Given the description of an element on the screen output the (x, y) to click on. 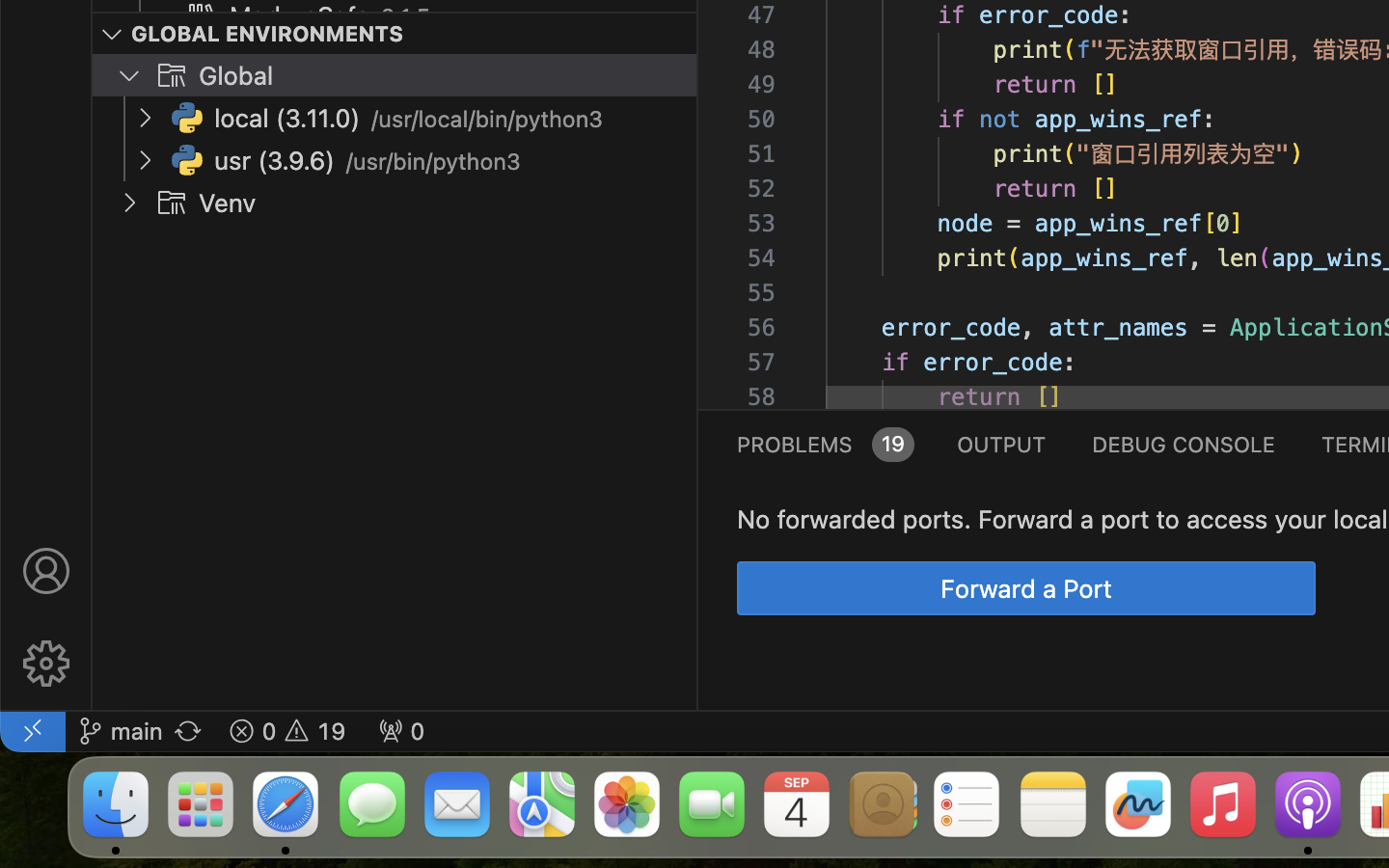
0 OUTPUT Element type: AXRadioButton (1001, 443)
 Element type: AXStaticText (111, 34)
 Element type: AXStaticText (46, 663)
local (3.11.0) Element type: AXStaticText (287, 118)
/usr/bin/python3 Element type: AXStaticText (432, 161)
